Given the description of an element on the screen output the (x, y) to click on. 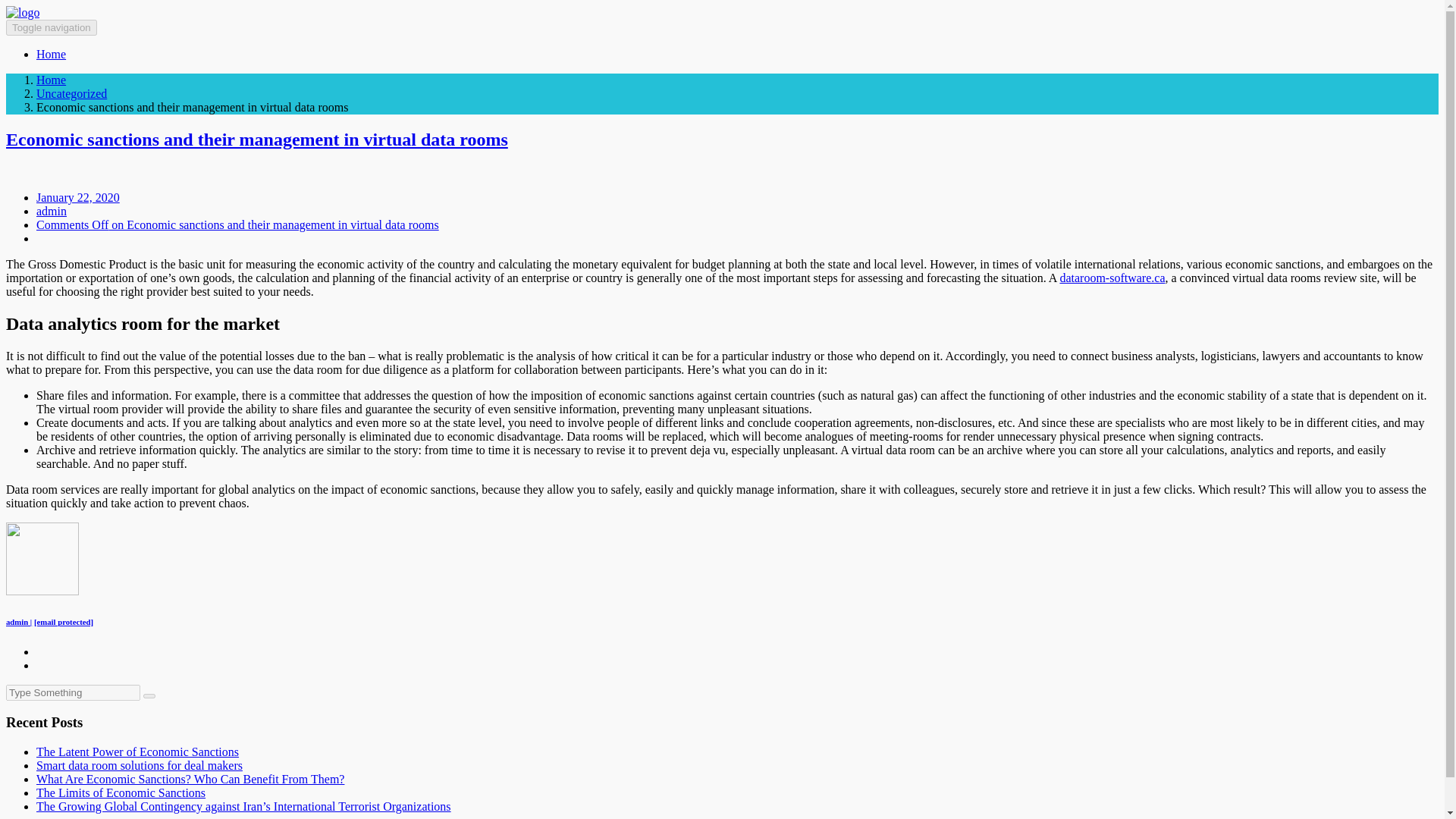
Toggle navigation (51, 27)
What Are Economic Sanctions? Who Can Benefit From Them? (189, 779)
Home (50, 53)
Home (50, 79)
admin (51, 210)
Home (50, 53)
January 22, 2020 (77, 196)
Smart data room solutions for deal makers (139, 765)
